Given the description of an element on the screen output the (x, y) to click on. 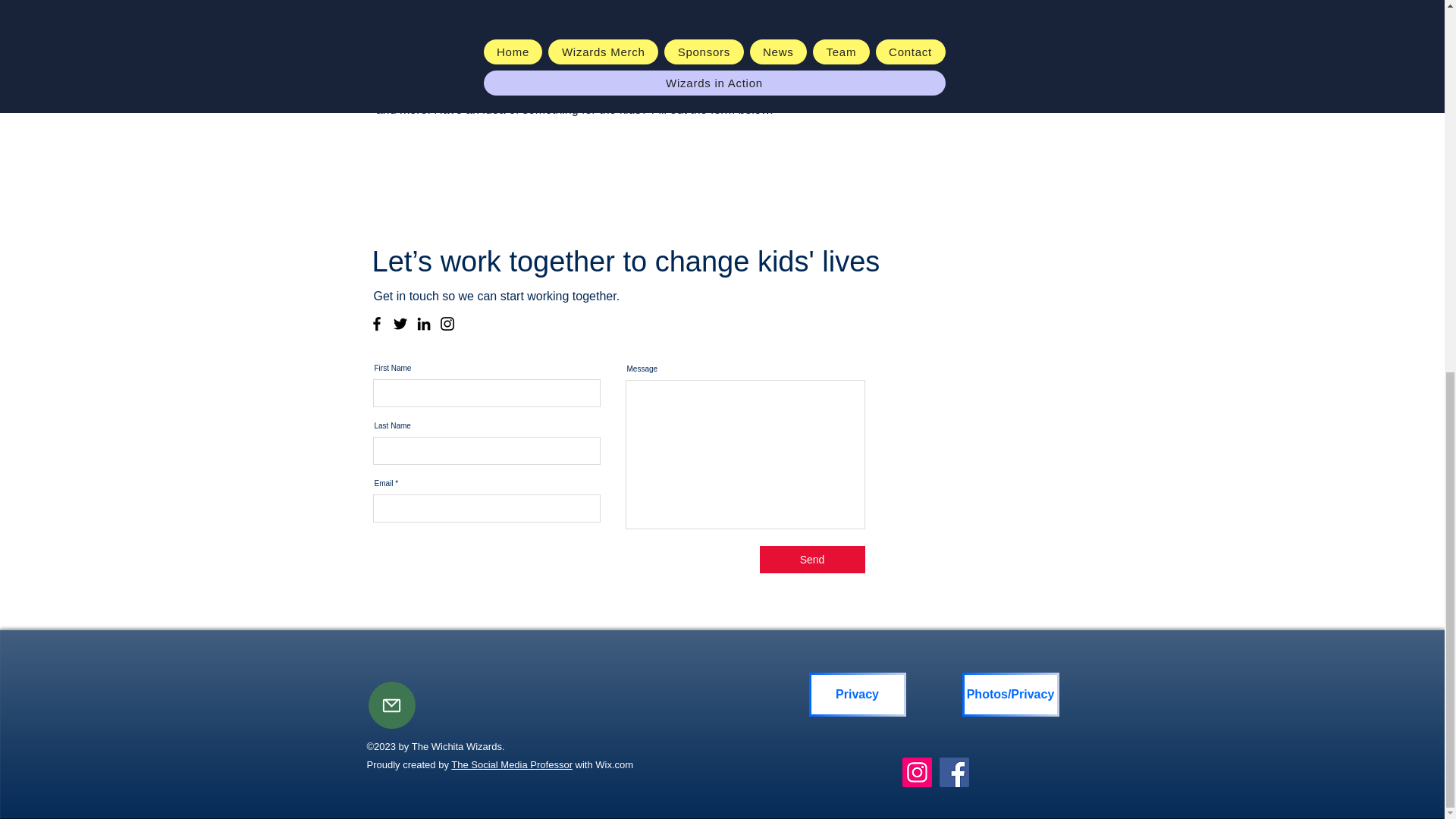
Privacy (856, 694)
Send (812, 559)
Wix.com (614, 764)
The Social Media Professor (511, 764)
